Given the description of an element on the screen output the (x, y) to click on. 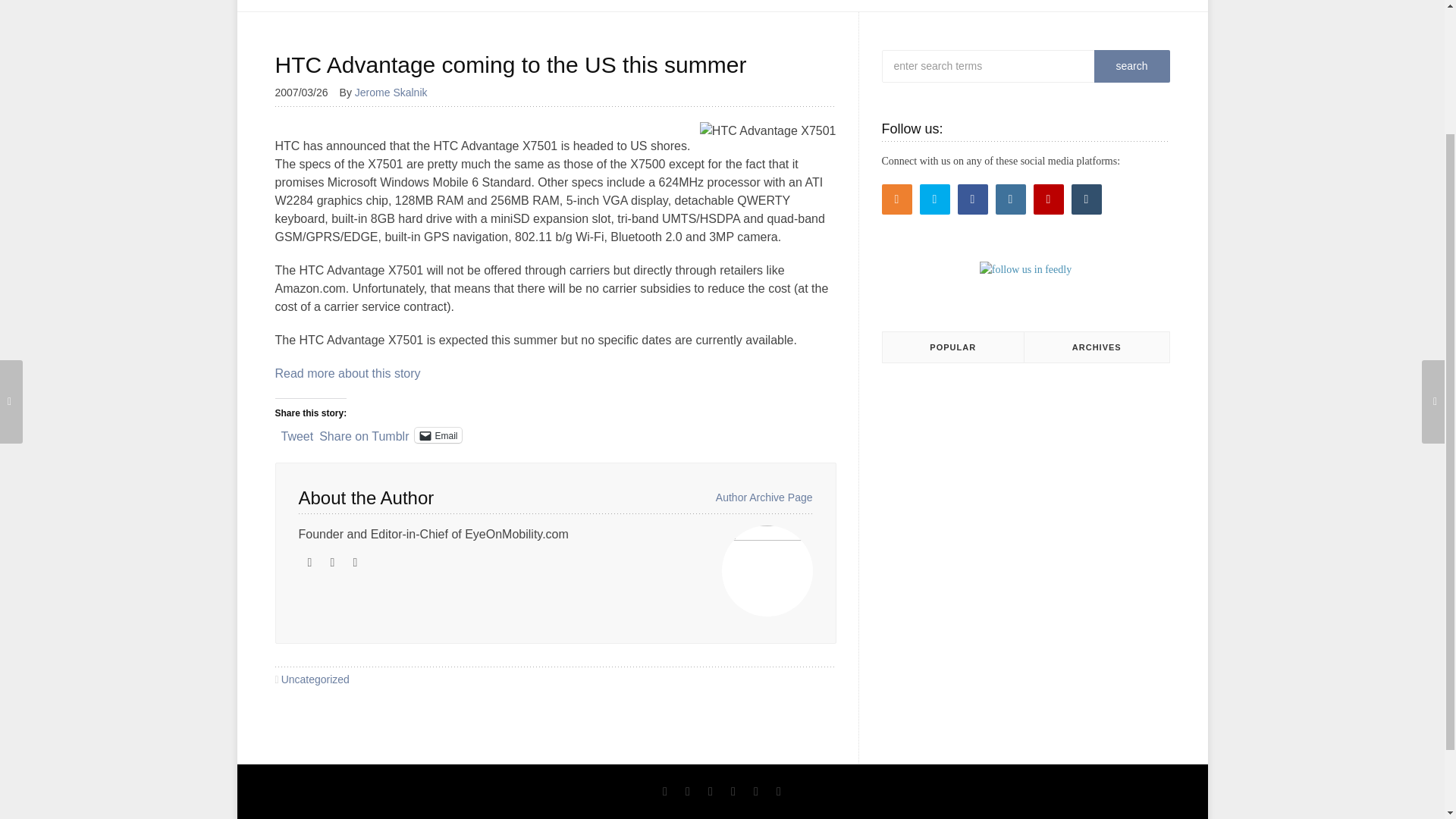
Search (1131, 65)
Click to email a link to a friend (437, 435)
Enter Search Terms (1017, 65)
POPULAR (953, 347)
Author Archive Page (764, 497)
Tweet (297, 434)
EyeOnMobility (363, 5)
Email (437, 435)
Search (1131, 65)
Jerome Skalnik's Website (309, 562)
View all posts by Jerome Skalnik (397, 92)
Read more about this story (347, 373)
Share on Tumblr (363, 434)
Jerome Skalnik (397, 92)
Jerome Skalnik's RSS Feed (332, 562)
